Given the description of an element on the screen output the (x, y) to click on. 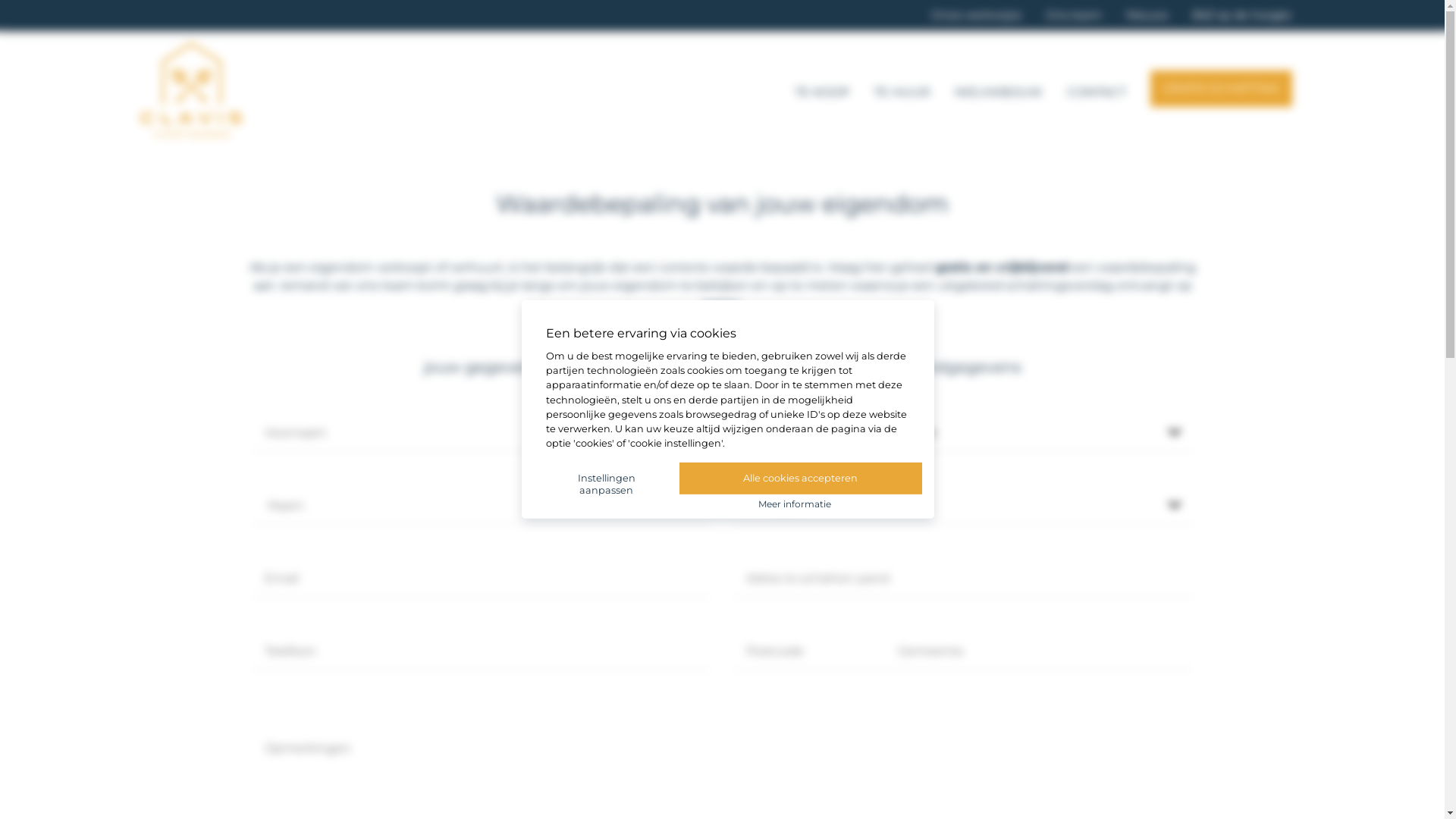
TE KOOP Element type: text (821, 89)
CONTACT Element type: text (1096, 89)
Blijf op de hoogte Element type: text (1241, 14)
GRATIS SCHATTING Element type: text (1221, 86)
Onze werkwijze Element type: text (976, 14)
Ons team Element type: text (1073, 14)
Instellingen aanpassen Element type: text (612, 477)
Go to the homepage Element type: hover (190, 132)
Alle cookies accepteren Element type: text (800, 478)
Instellingen aanpassen Element type: text (606, 484)
Nieuws Element type: text (1146, 14)
TE HUUR Element type: text (901, 89)
GRATIS SCHATTING Element type: text (1221, 87)
NIEUWBOUW Element type: text (998, 89)
Meer informatie Element type: text (794, 502)
